Given the description of an element on the screen output the (x, y) to click on. 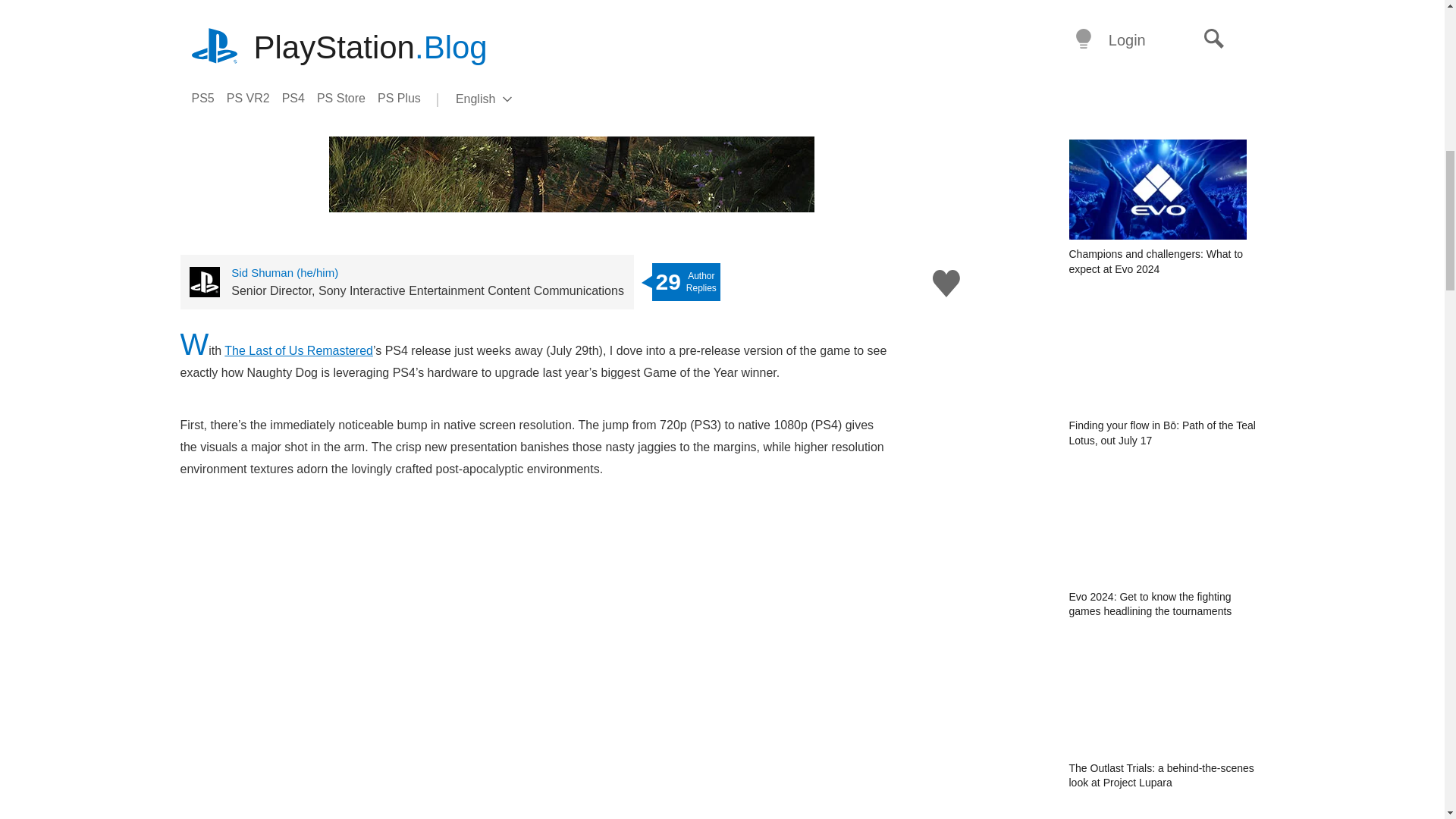
Like this (946, 283)
